Given the description of an element on the screen output the (x, y) to click on. 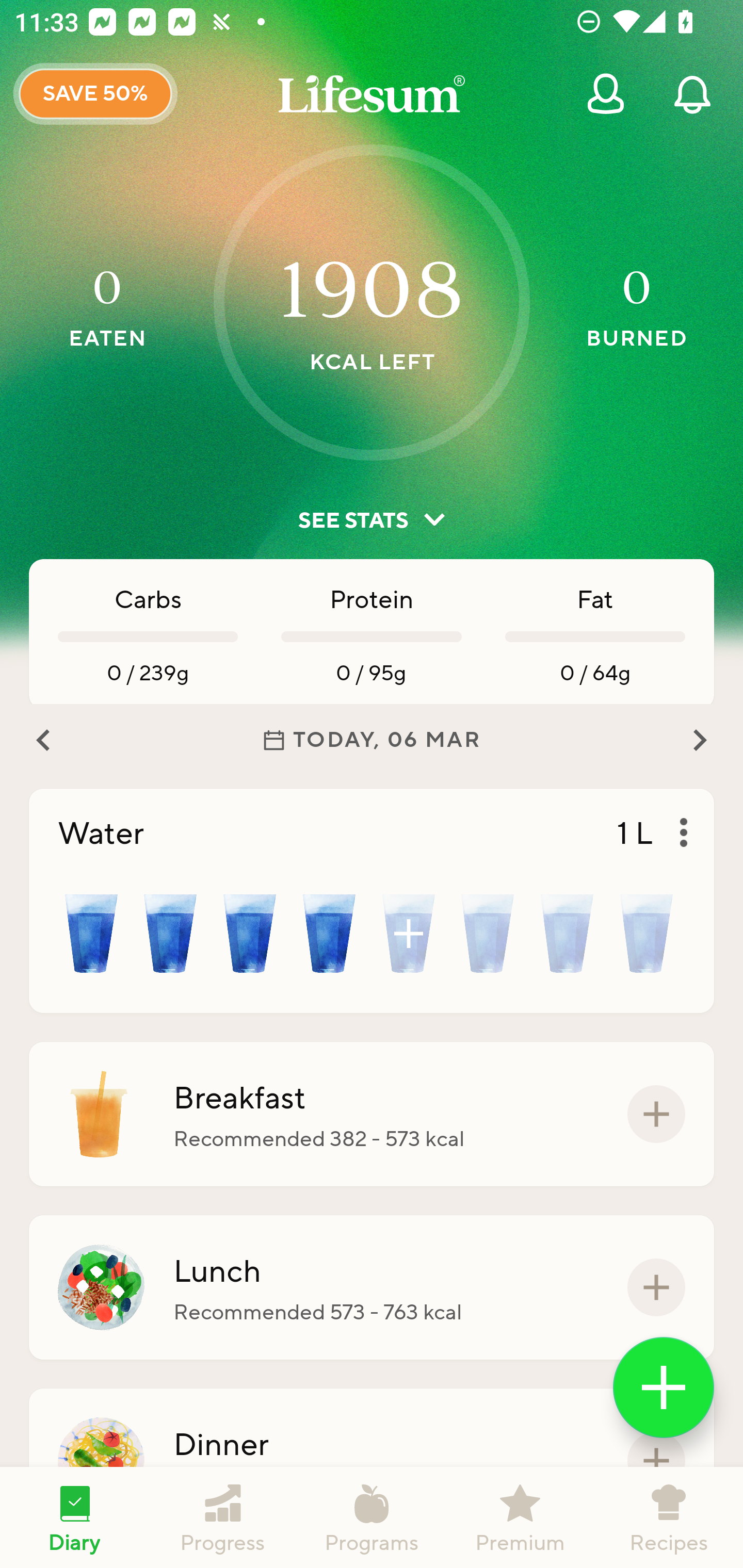
SEE STATS (371, 519)
TODAY, 06 MAR (371, 739)
Breakfast Recommended 382 - 573 kcal (371, 1113)
Lunch Recommended 573 - 763 kcal (371, 1287)
Dinner Recommended 573 - 763 kcal (371, 1461)
Progress (222, 1517)
Programs (371, 1517)
Premium (519, 1517)
Recipes (668, 1517)
